Given the description of an element on the screen output the (x, y) to click on. 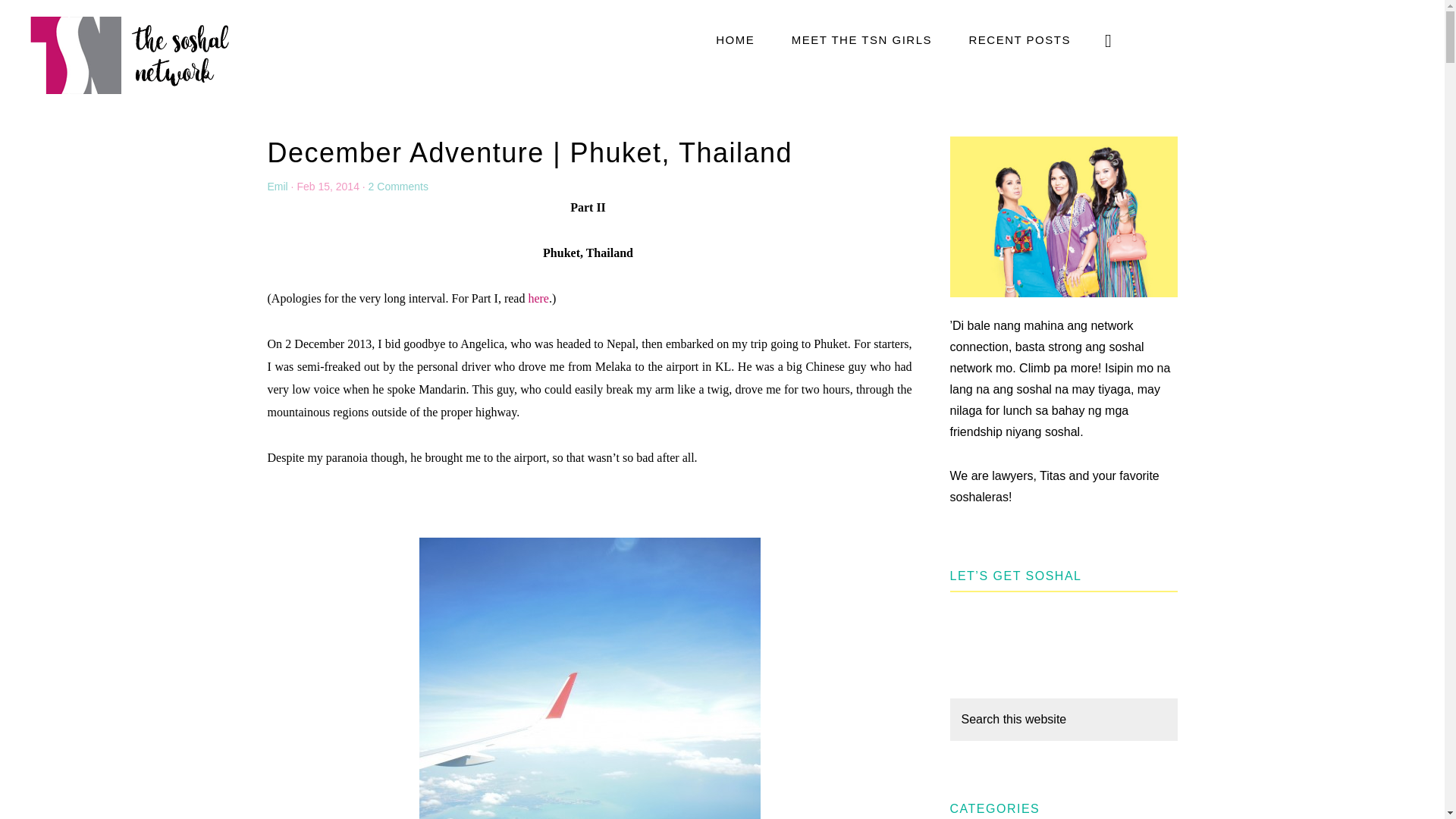
here (536, 297)
HOME (734, 39)
THE SOSHAL NETWORK (129, 54)
Emil (276, 186)
RECENT POSTS (1019, 39)
SHOW SEARCH (1109, 39)
2 Comments (398, 186)
MEET THE TSN GIRLS (861, 39)
